Given the description of an element on the screen output the (x, y) to click on. 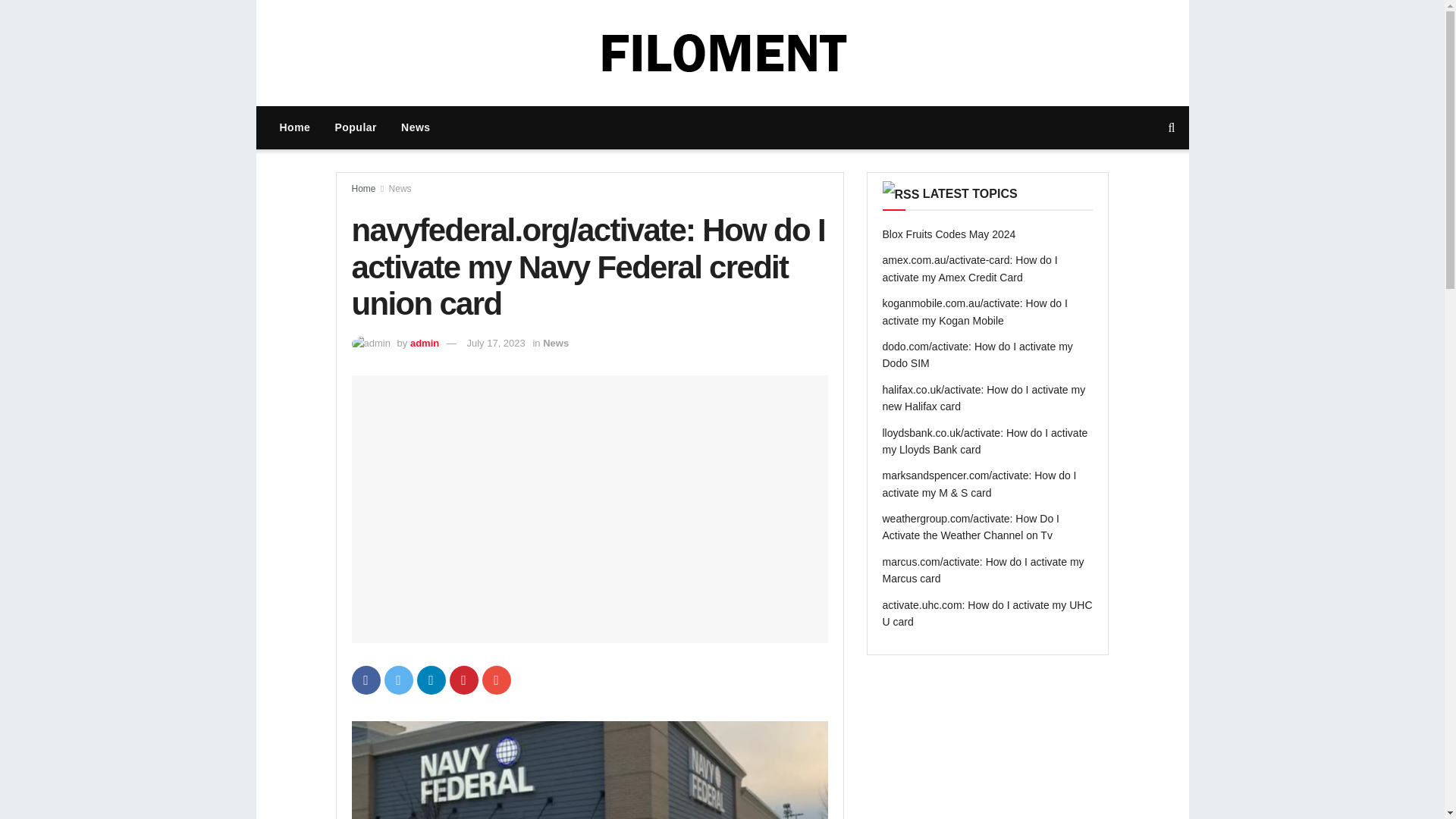
Home (293, 127)
admin (424, 342)
News (415, 127)
LATEST TOPICS (970, 193)
News (400, 188)
Popular (354, 127)
activate.uhc.com: How do I activate my UHC U card (987, 613)
Blox Fruits Codes May 2024 (949, 234)
Home (363, 188)
July 17, 2023 (494, 342)
